Given the description of an element on the screen output the (x, y) to click on. 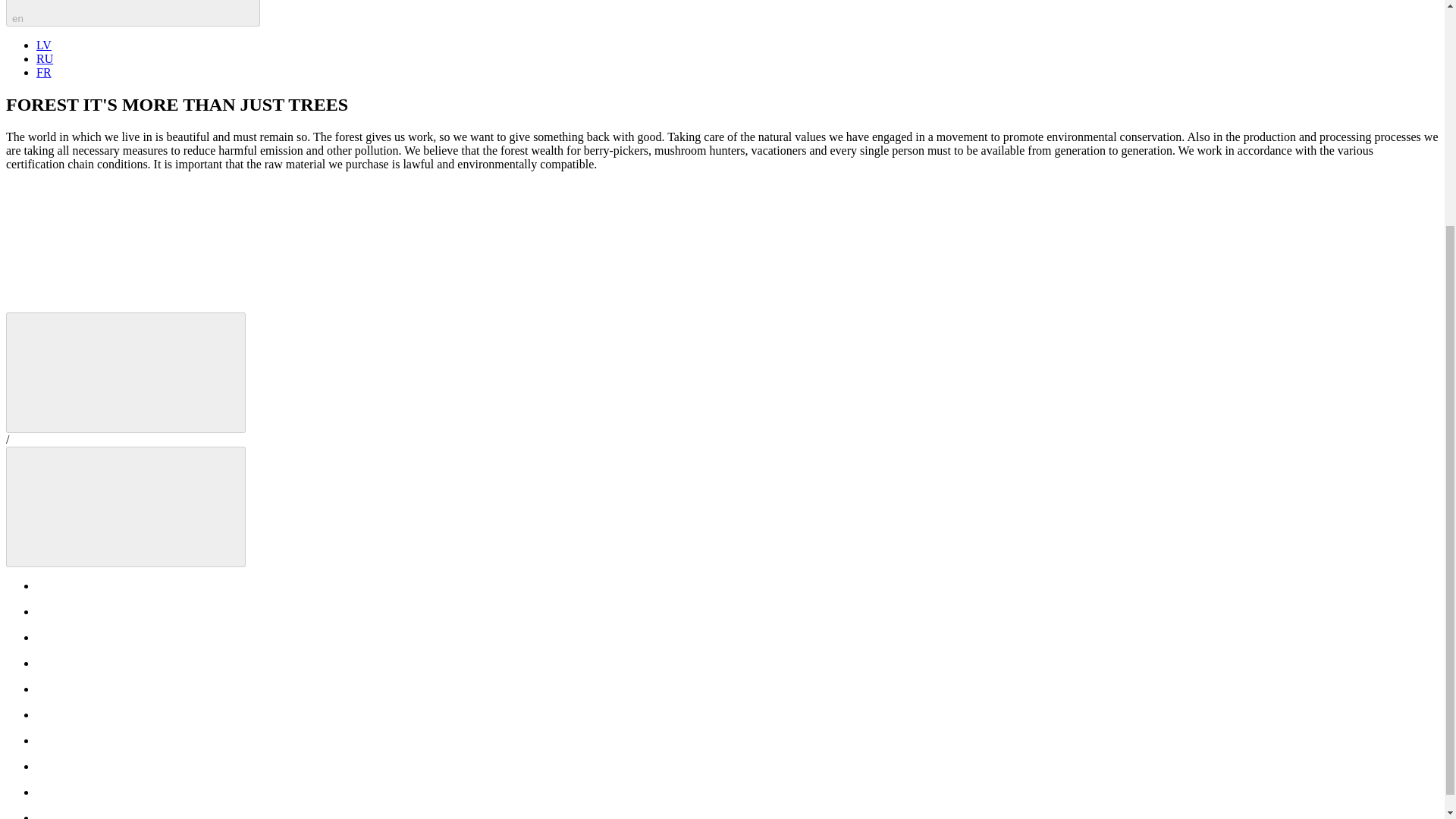
LV (43, 44)
FR (43, 72)
RU (44, 58)
en (132, 13)
